Given the description of an element on the screen output the (x, y) to click on. 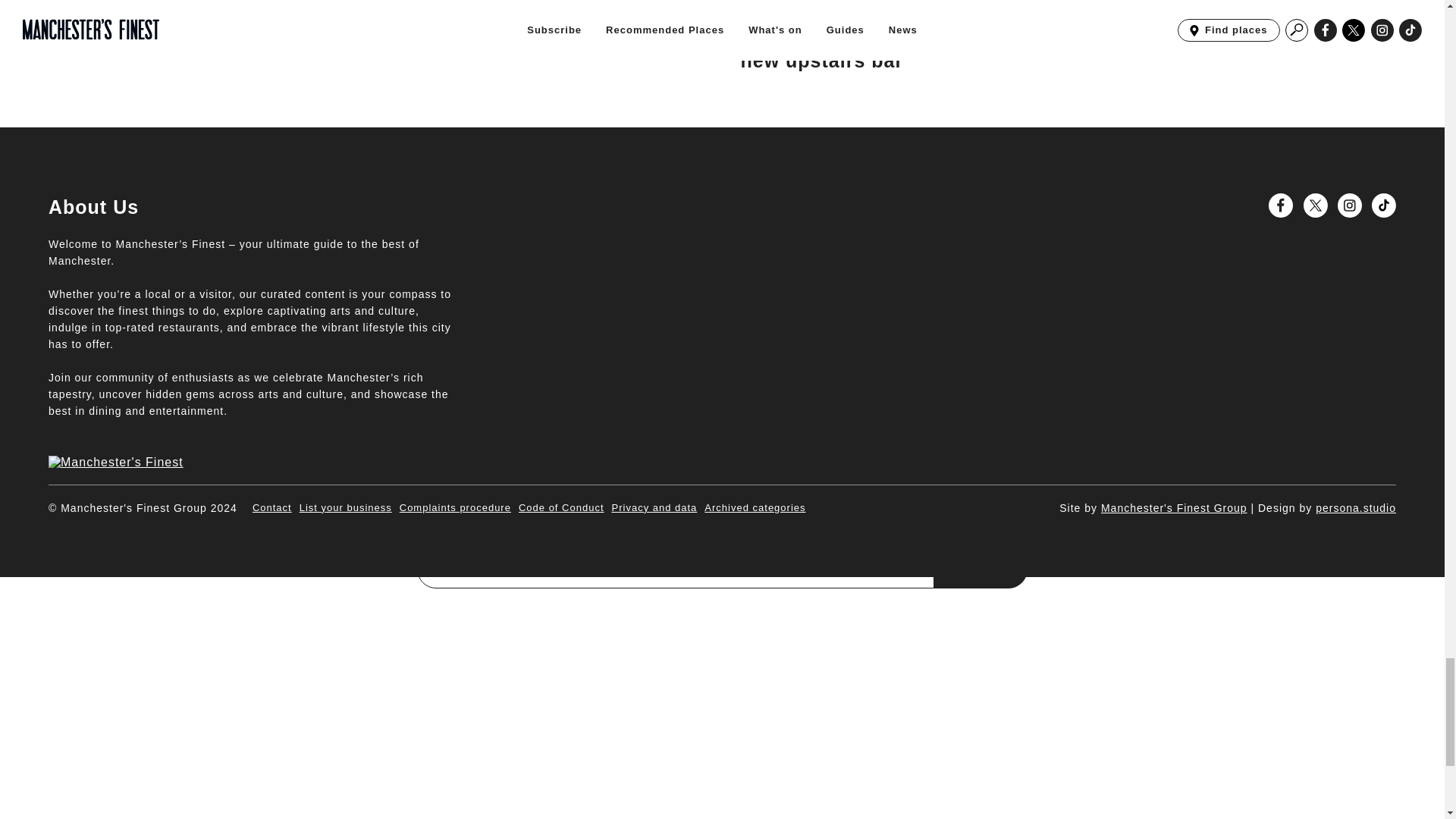
Go to Manchester's Finest Facebook page (1280, 205)
Go to Manchester's Finest Instagram profile (1349, 205)
Go to Manchester's Finest TikTok profile (1383, 205)
Go to Manchester's Finest X profile (1315, 205)
